Given the description of an element on the screen output the (x, y) to click on. 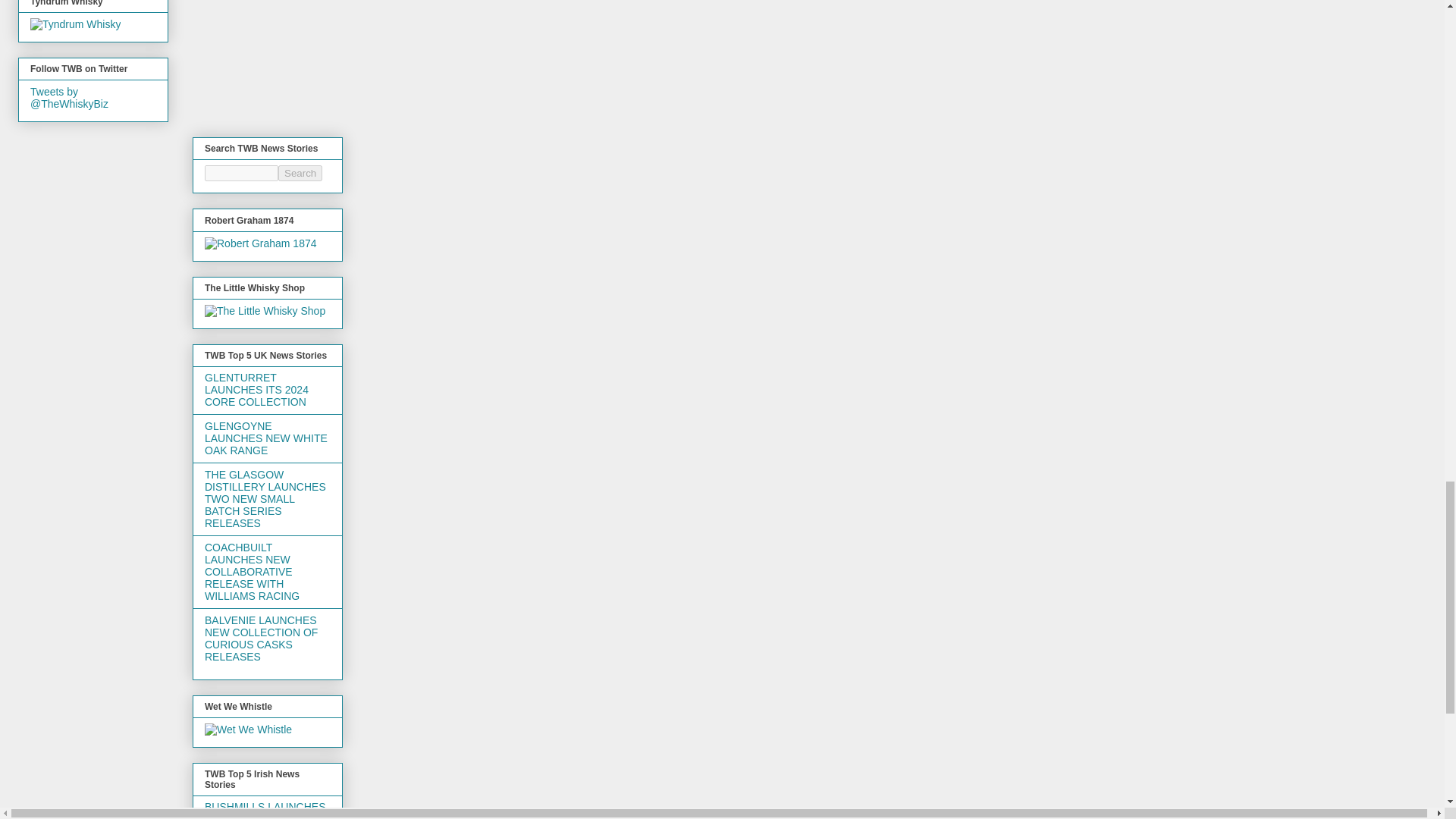
search (241, 172)
search (299, 172)
Search (299, 172)
BALVENIE LAUNCHES NEW COLLECTION OF CURIOUS CASKS RELEASES (261, 638)
Search (299, 172)
GLENTURRET LAUNCHES ITS 2024 CORE COLLECTION (256, 389)
Search (299, 172)
GLENGOYNE LAUNCHES NEW WHITE OAK RANGE (266, 438)
BUSHMILLS LAUNCHES ITS LATEST CAUSEWAY COLLECTION RELEASE (265, 809)
